Given the description of an element on the screen output the (x, y) to click on. 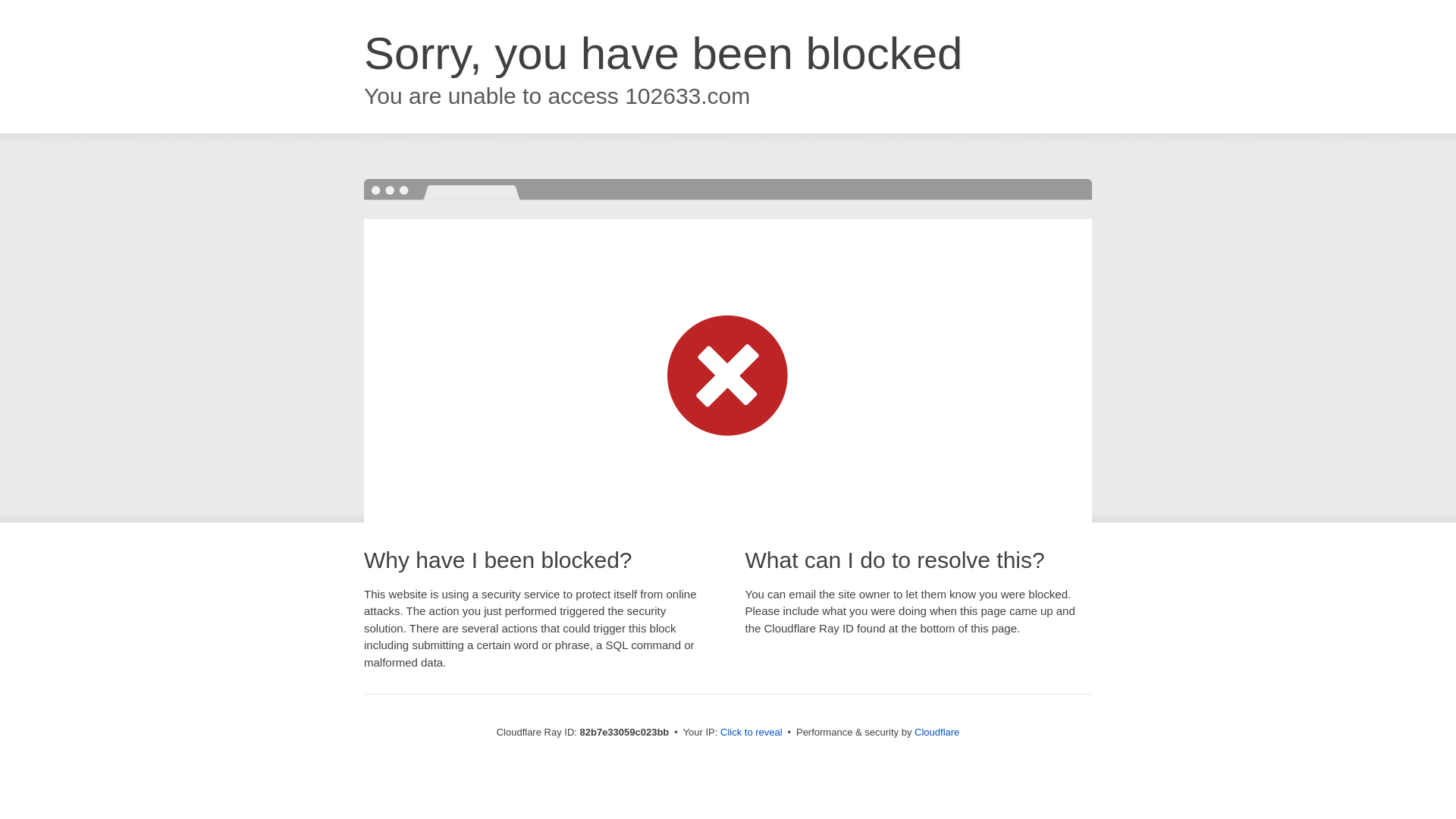
Cloudflare Element type: text (936, 731)
Click to reveal Element type: text (751, 732)
